Given the description of an element on the screen output the (x, y) to click on. 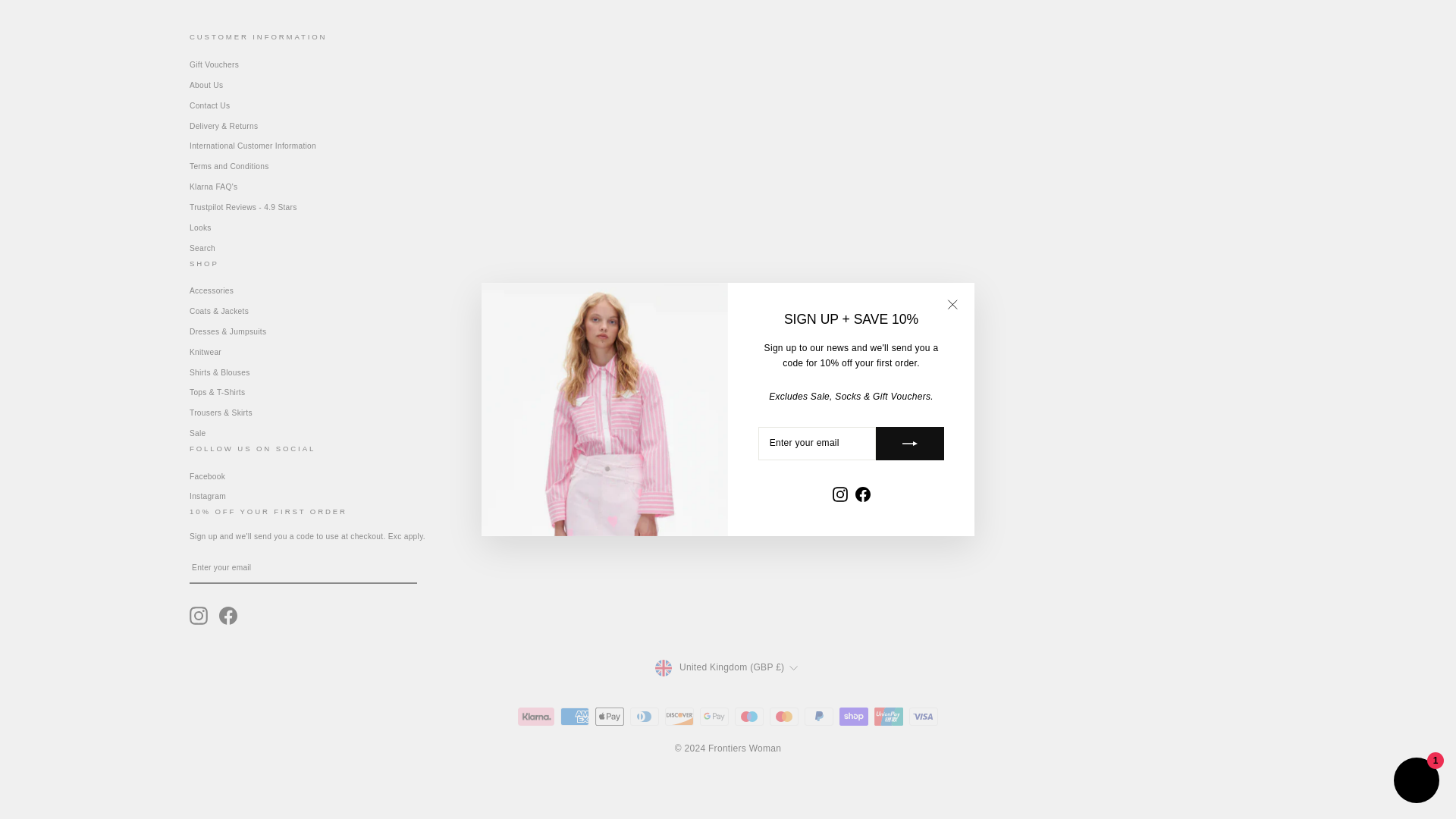
Discover (679, 716)
Frontiers Woman on Instagram (198, 615)
Apple Pay (609, 716)
American Express (574, 716)
Mastercard (783, 716)
Diners Club (644, 716)
instagram (198, 615)
Maestro (748, 716)
Google Pay (714, 716)
